Given the description of an element on the screen output the (x, y) to click on. 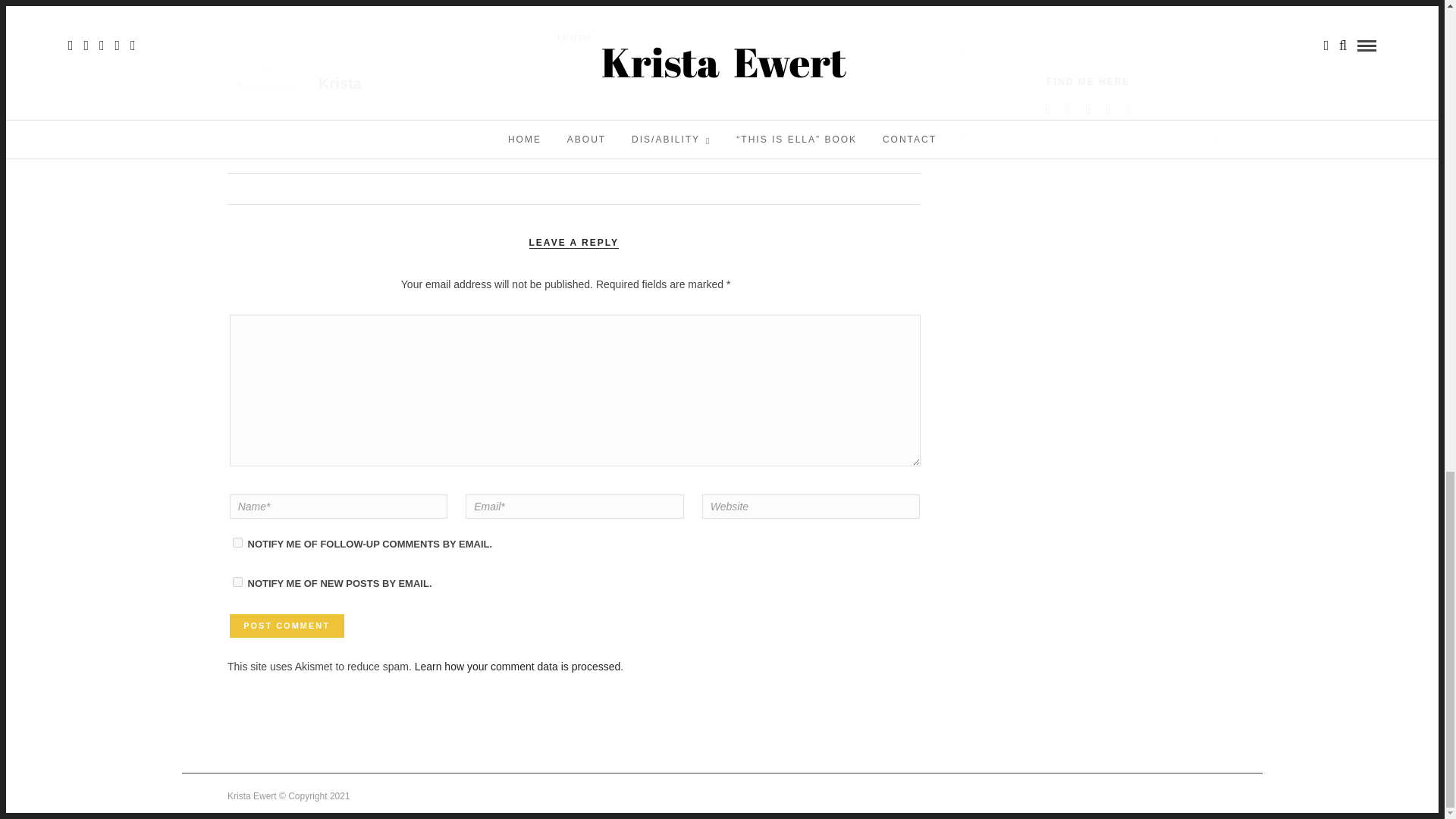
subscribe (237, 582)
Post Comment (286, 626)
subscribe (237, 542)
